Given the description of an element on the screen output the (x, y) to click on. 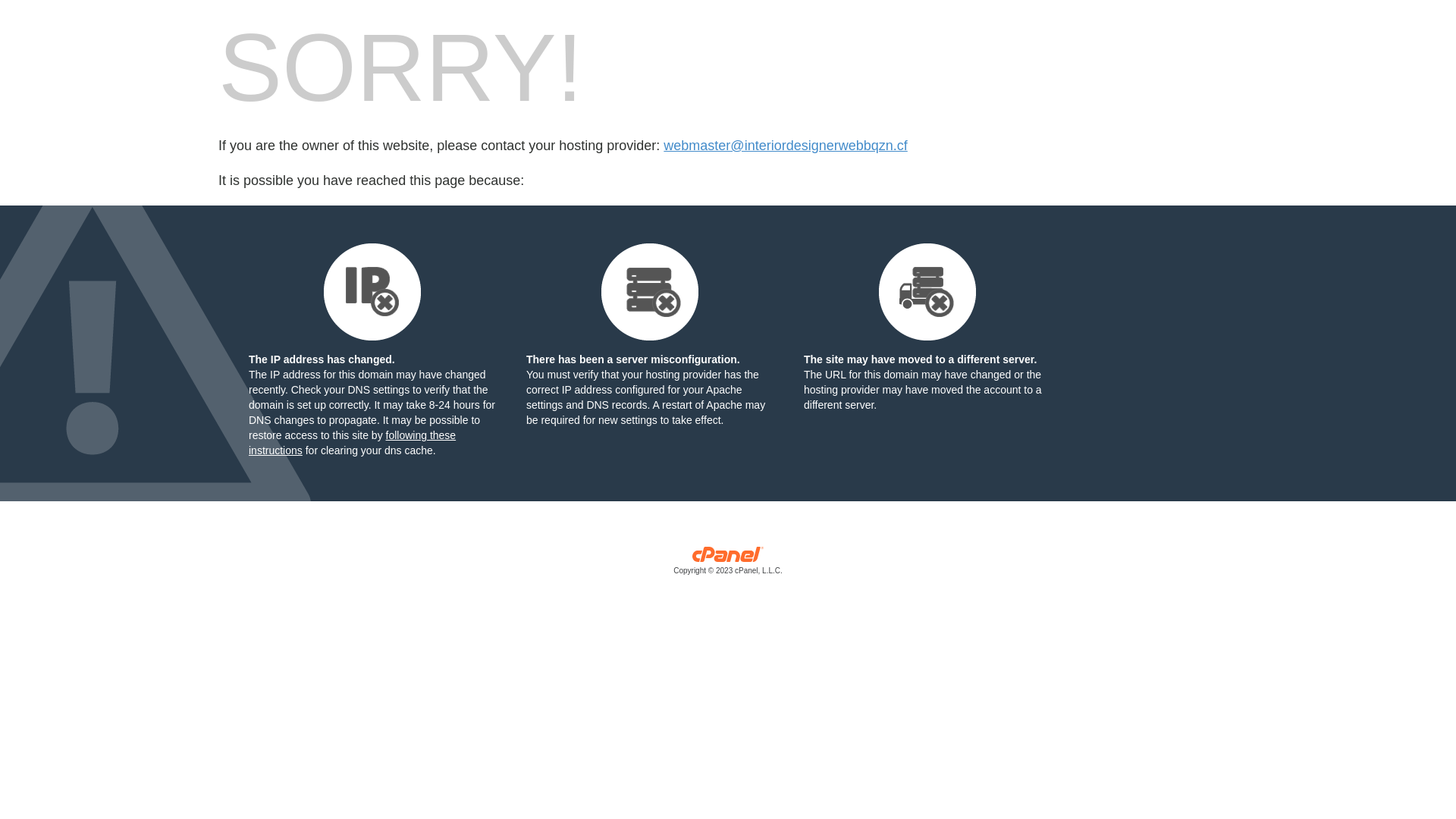
following these instructions Element type: text (351, 442)
webmaster@interiordesignerwebbqzn.cf Element type: text (784, 145)
